Given the description of an element on the screen output the (x, y) to click on. 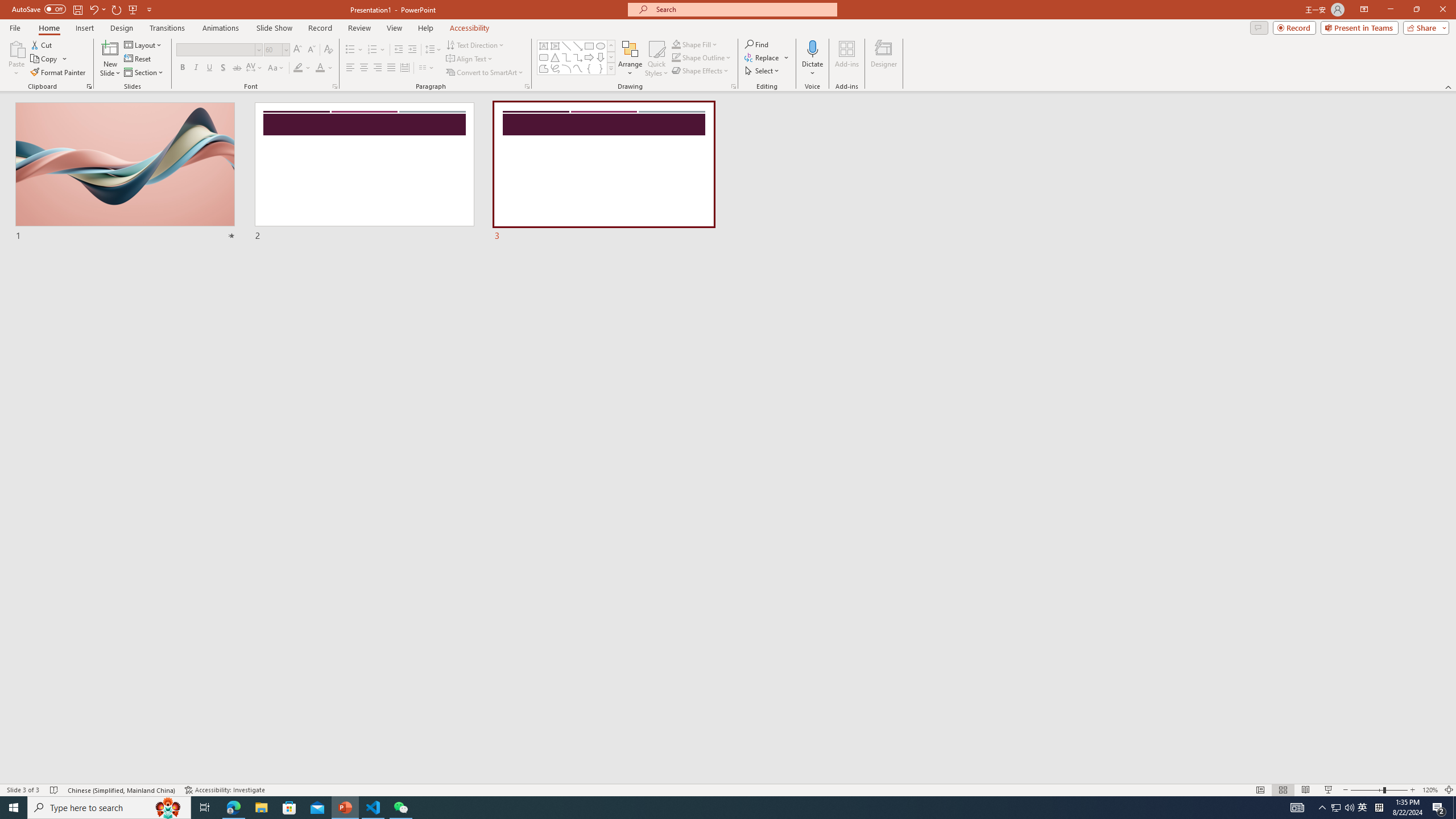
Zoom 120% (1430, 790)
